Given the description of an element on the screen output the (x, y) to click on. 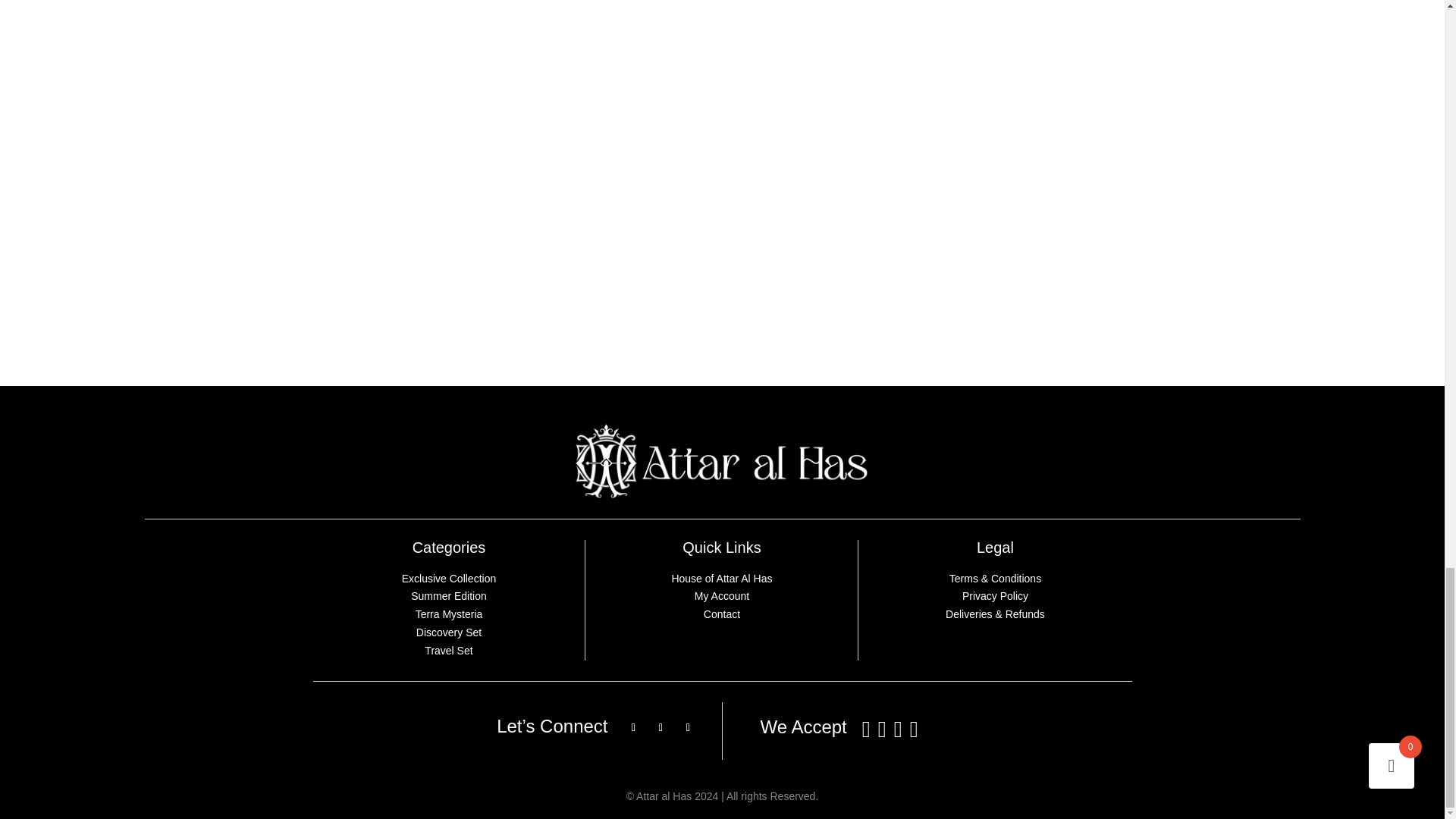
Follow on Facebook (634, 727)
Follow on Instagram (660, 727)
logo (721, 460)
Follow on Youtube (688, 727)
